Given the description of an element on the screen output the (x, y) to click on. 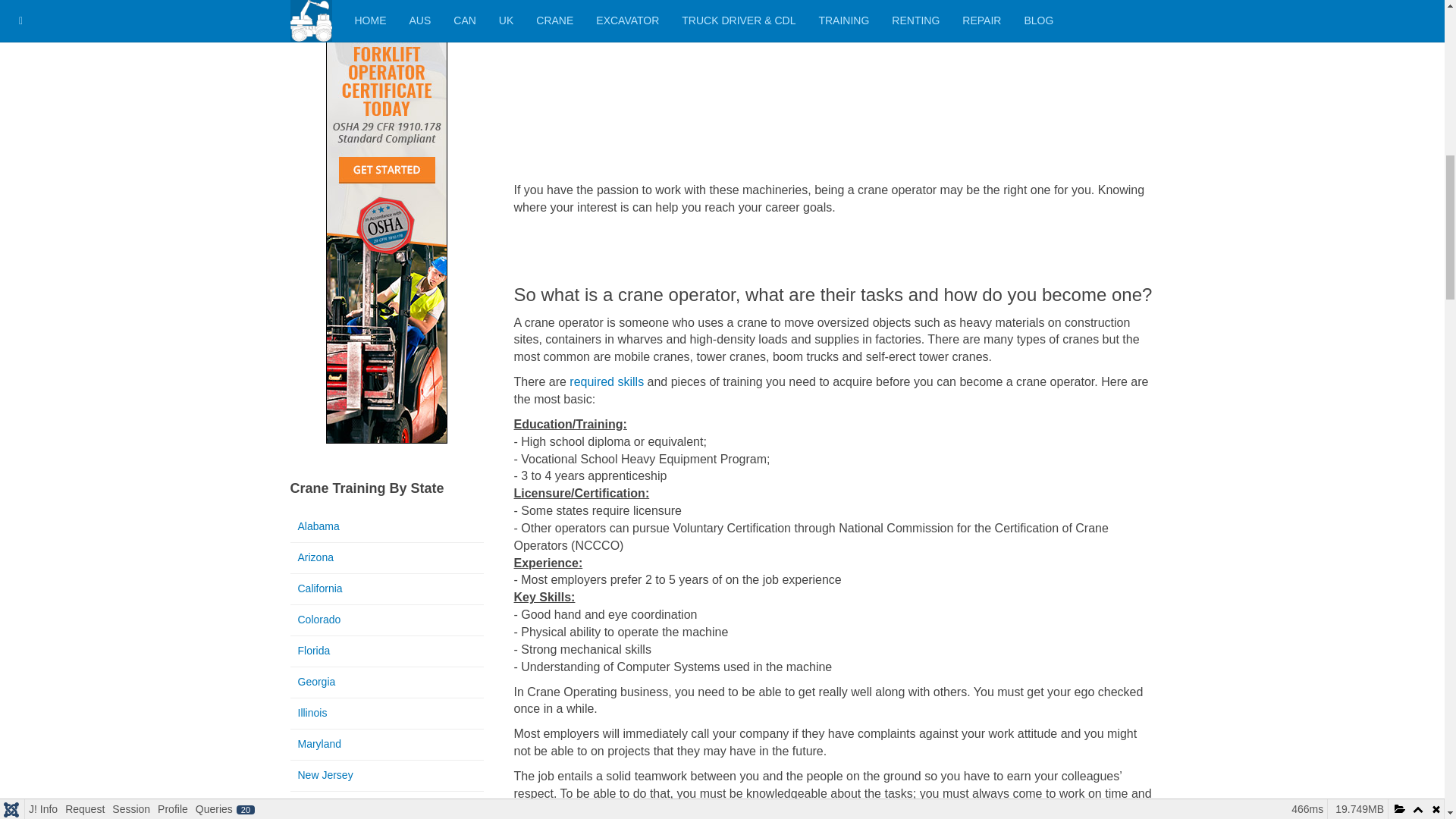
Advertisement (833, 90)
Florida (386, 651)
Maryland (386, 744)
Illinois (386, 713)
Alabama (386, 526)
Arizona (386, 557)
required skills (606, 381)
Georgia (386, 682)
California (386, 589)
Colorado (386, 620)
